Given the description of an element on the screen output the (x, y) to click on. 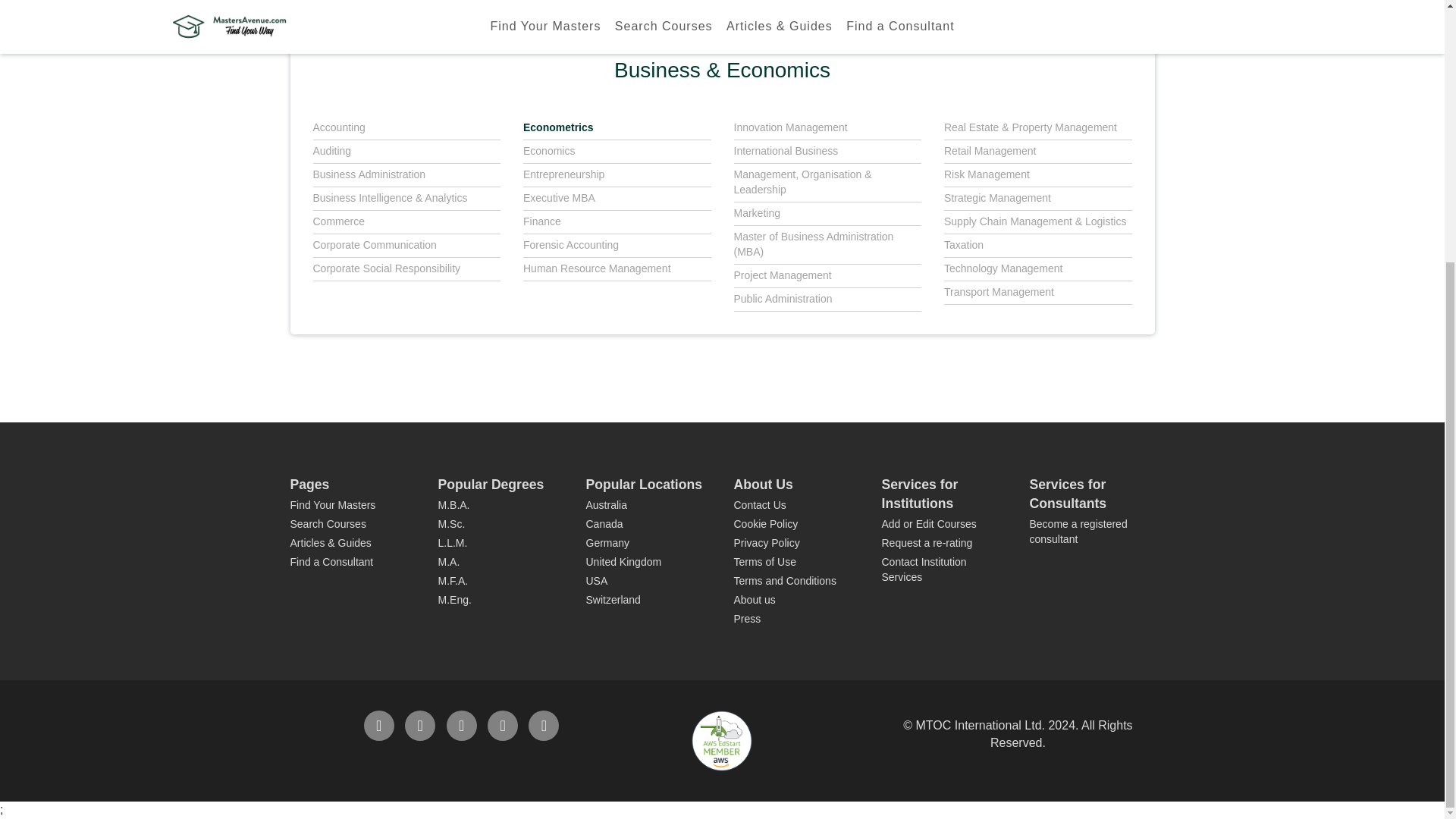
All (354, 18)
Full Time (494, 18)
Online (774, 18)
Part Time (633, 18)
